Given the description of an element on the screen output the (x, y) to click on. 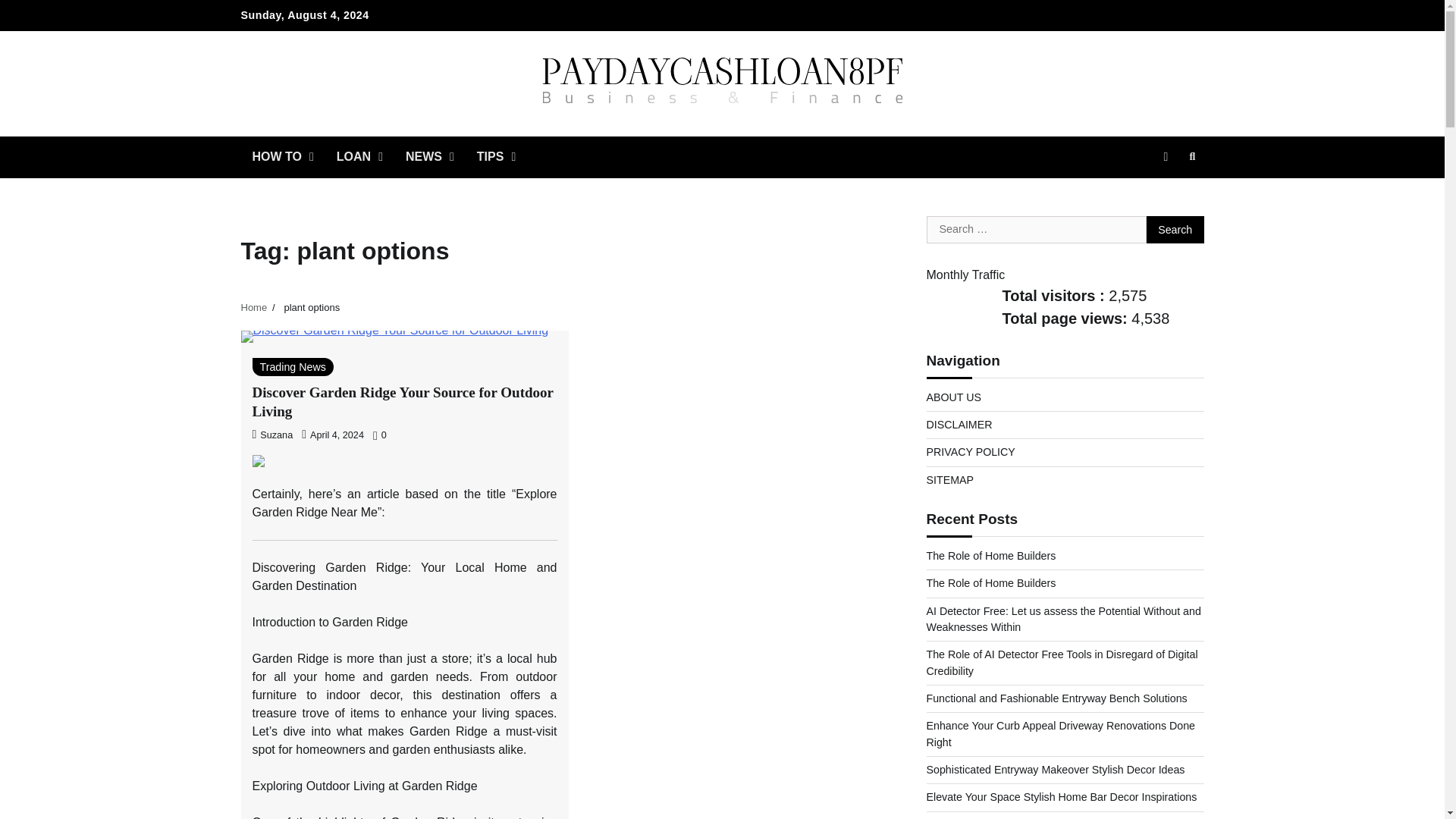
Search (1175, 229)
PRIVACY POLICY (970, 451)
The Role of Home Builders (991, 582)
Search (1175, 229)
Discover Garden Ridge Your Source for Outdoor Living (402, 401)
Functional and Fashionable Entryway Bench Solutions (1057, 698)
Search (1175, 229)
Search (1164, 192)
Suzana (271, 434)
Trading News (292, 366)
